Given the description of an element on the screen output the (x, y) to click on. 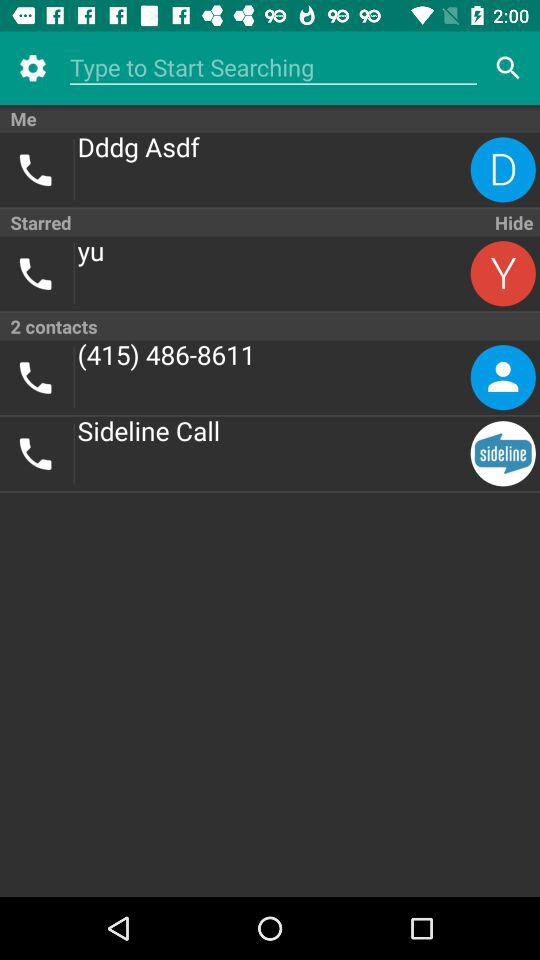
flip until the hide item (512, 222)
